Given the description of an element on the screen output the (x, y) to click on. 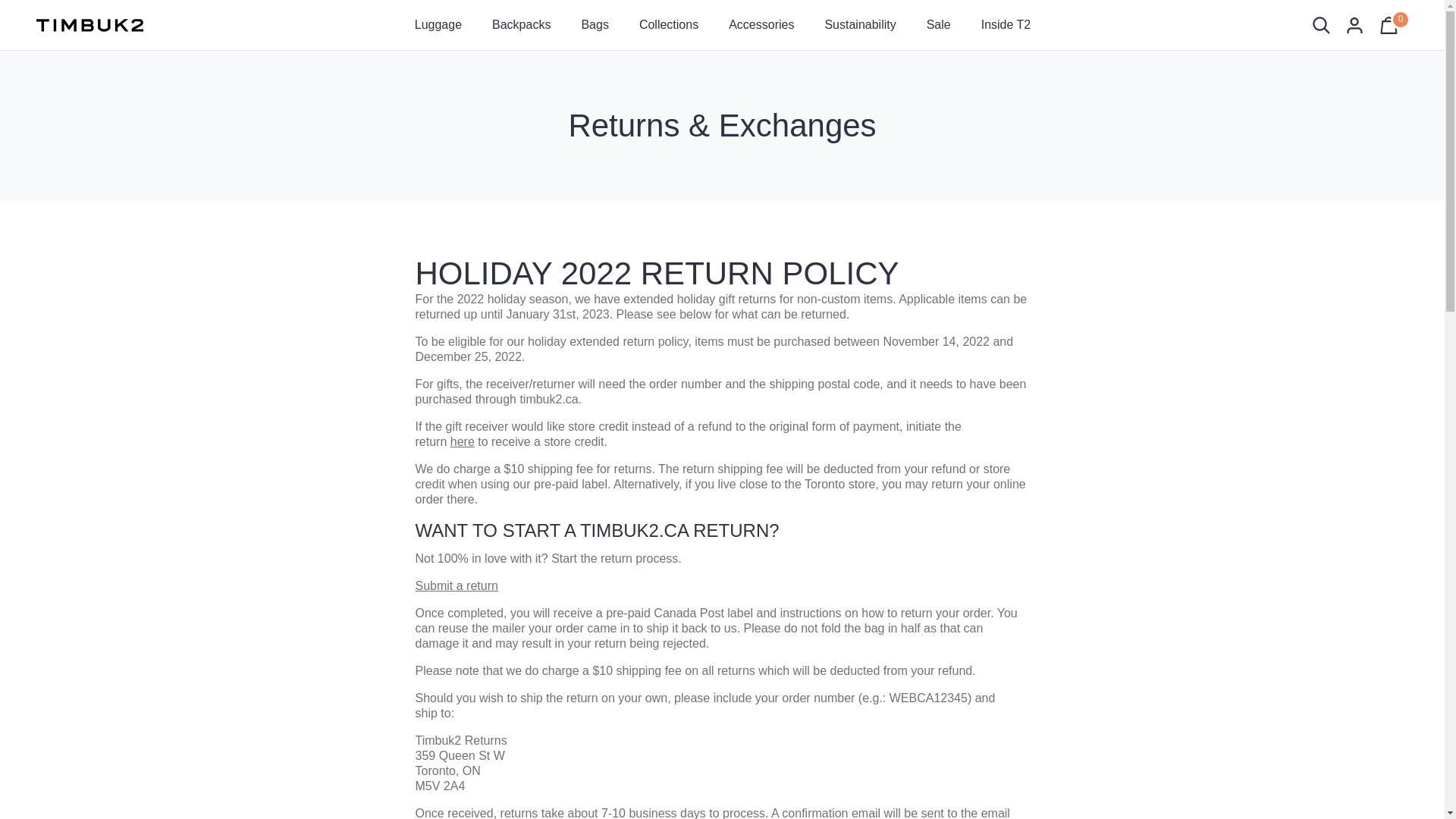
Luggage (437, 24)
Collections (668, 24)
Backpacks (521, 24)
Bags (594, 24)
